Given the description of an element on the screen output the (x, y) to click on. 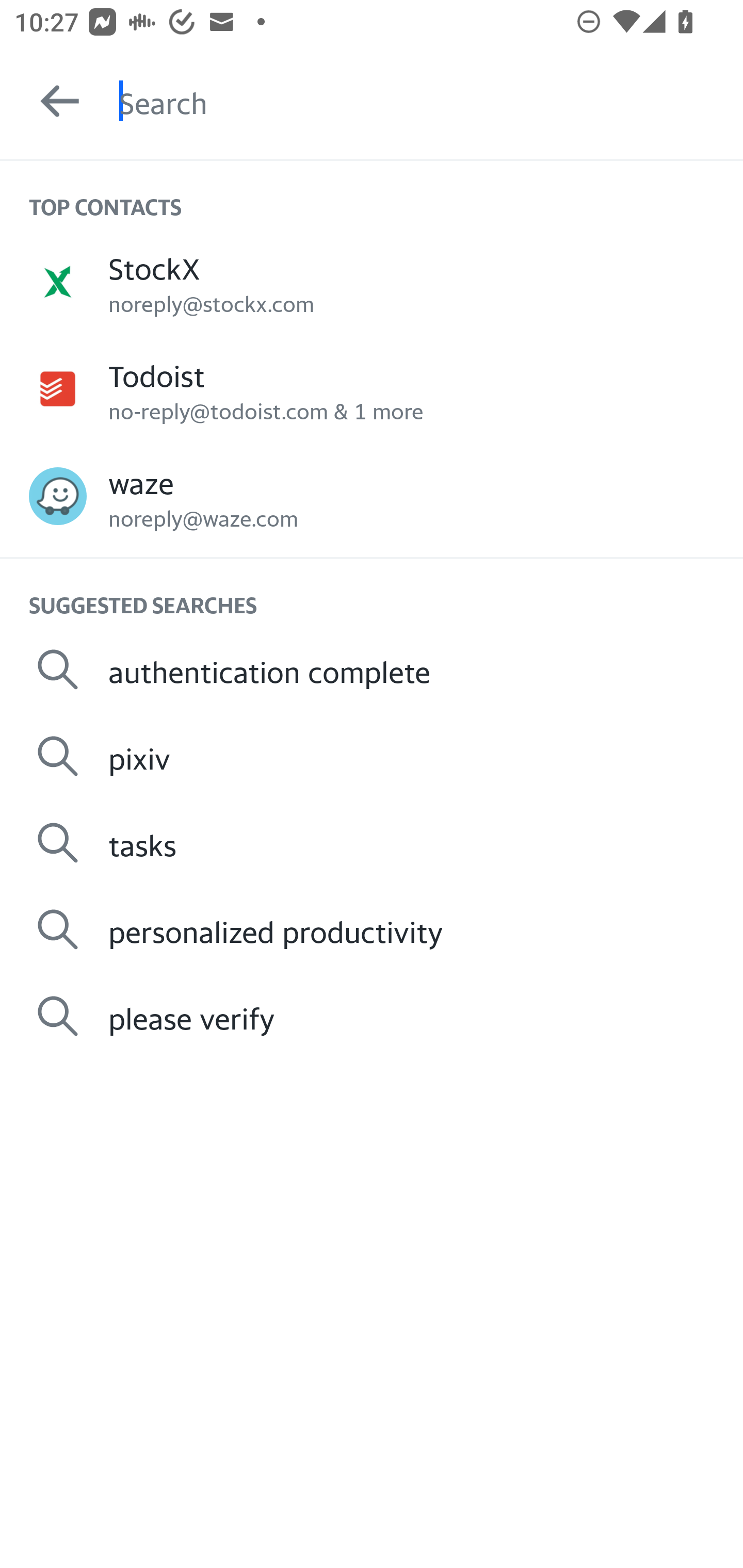
Back (50, 101)
Search (430, 101)
Top contacts StockX noreply@stockx.com (371, 281)
Top contacts Todoist no-reply@todoist.com & 1 more (371, 388)
Top contacts waze noreply@waze.com (371, 496)
Suggested searches authentication complete (371, 669)
Suggested searches pixiv (371, 756)
Suggested searches tasks (371, 842)
Suggested searches personalized productivity (371, 928)
Suggested searches please verify (371, 1015)
